Given the description of an element on the screen output the (x, y) to click on. 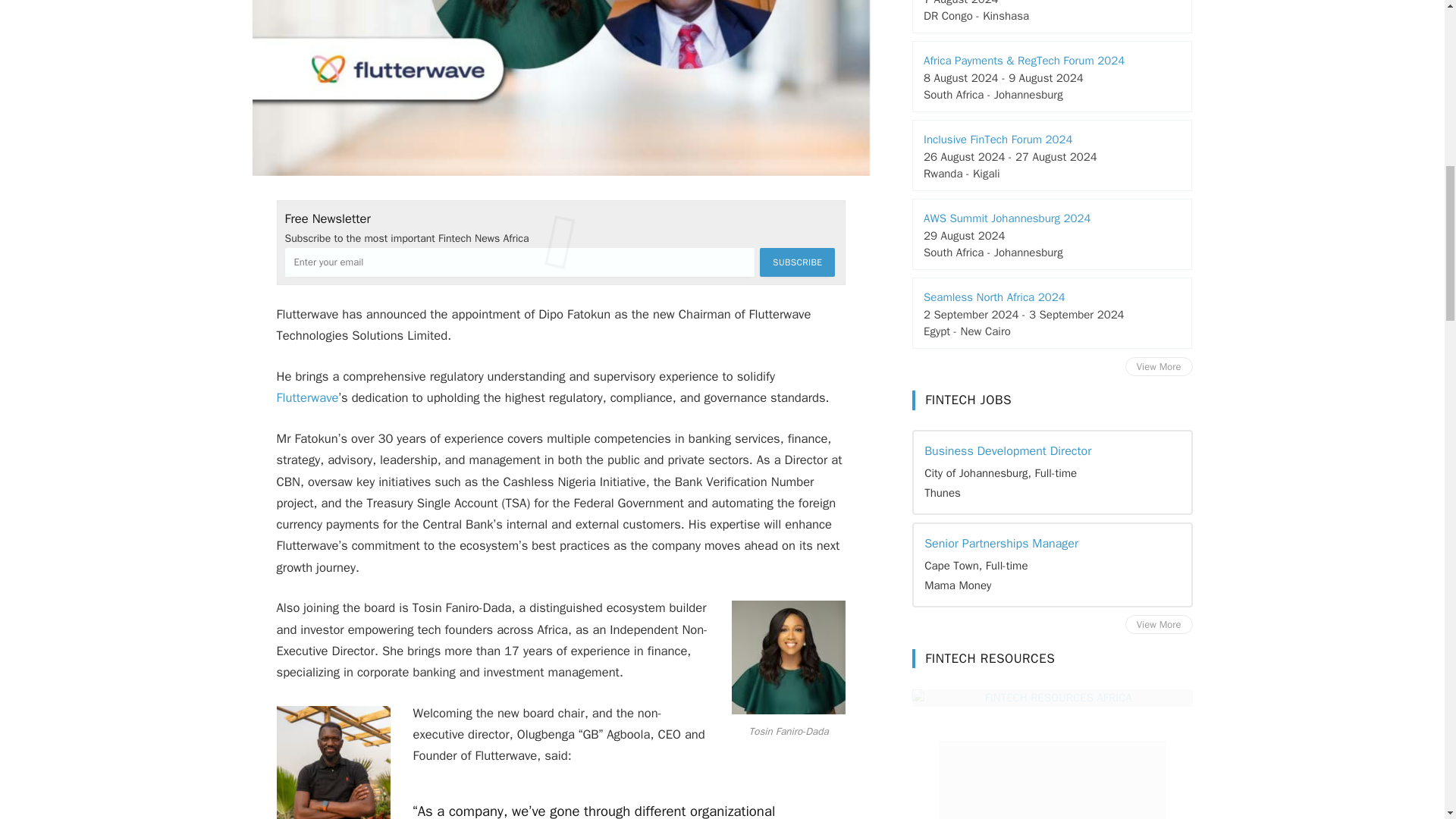
Subscribe (797, 262)
